Given the description of an element on the screen output the (x, y) to click on. 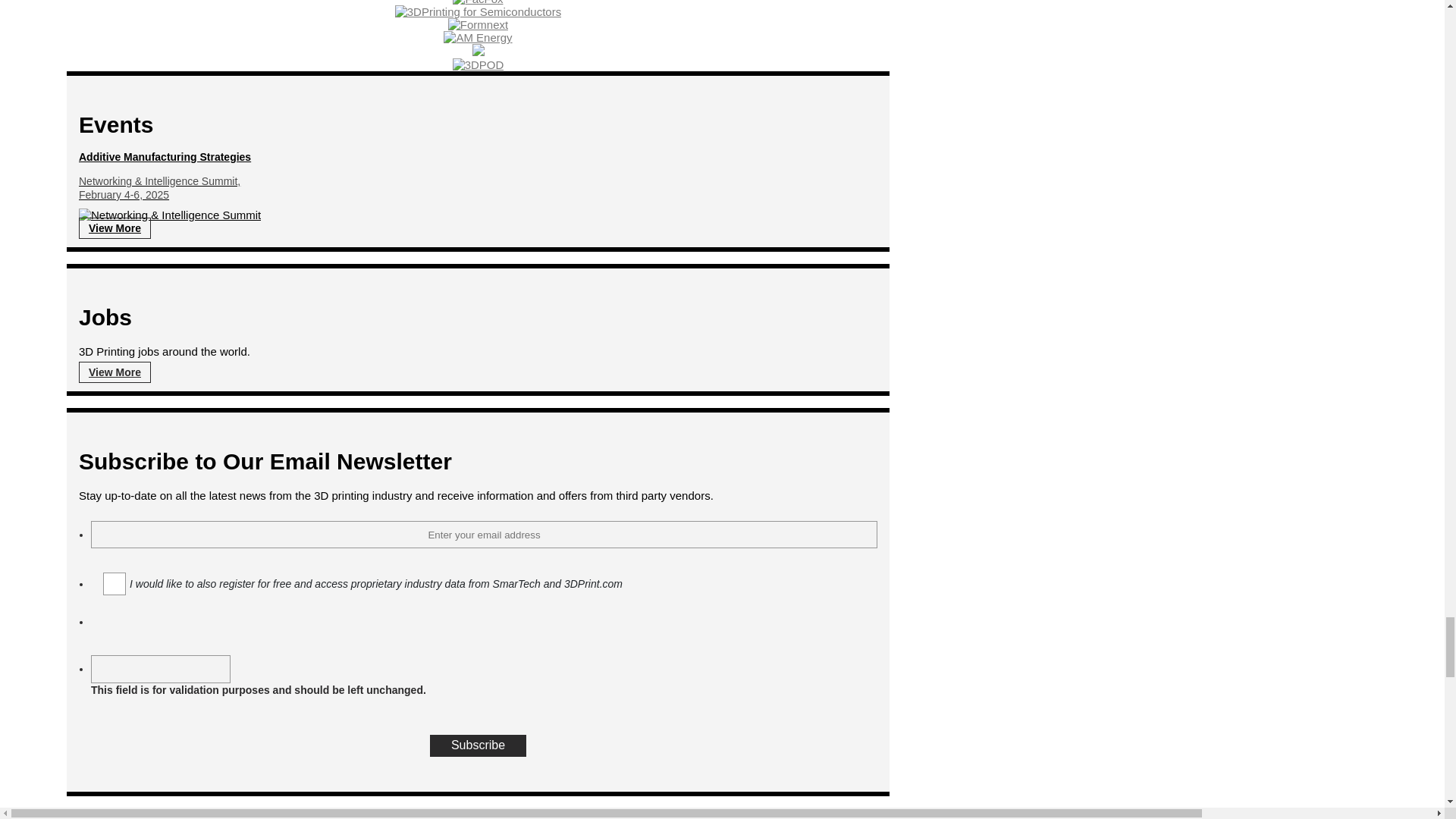
Subscribe (477, 745)
